Given the description of an element on the screen output the (x, y) to click on. 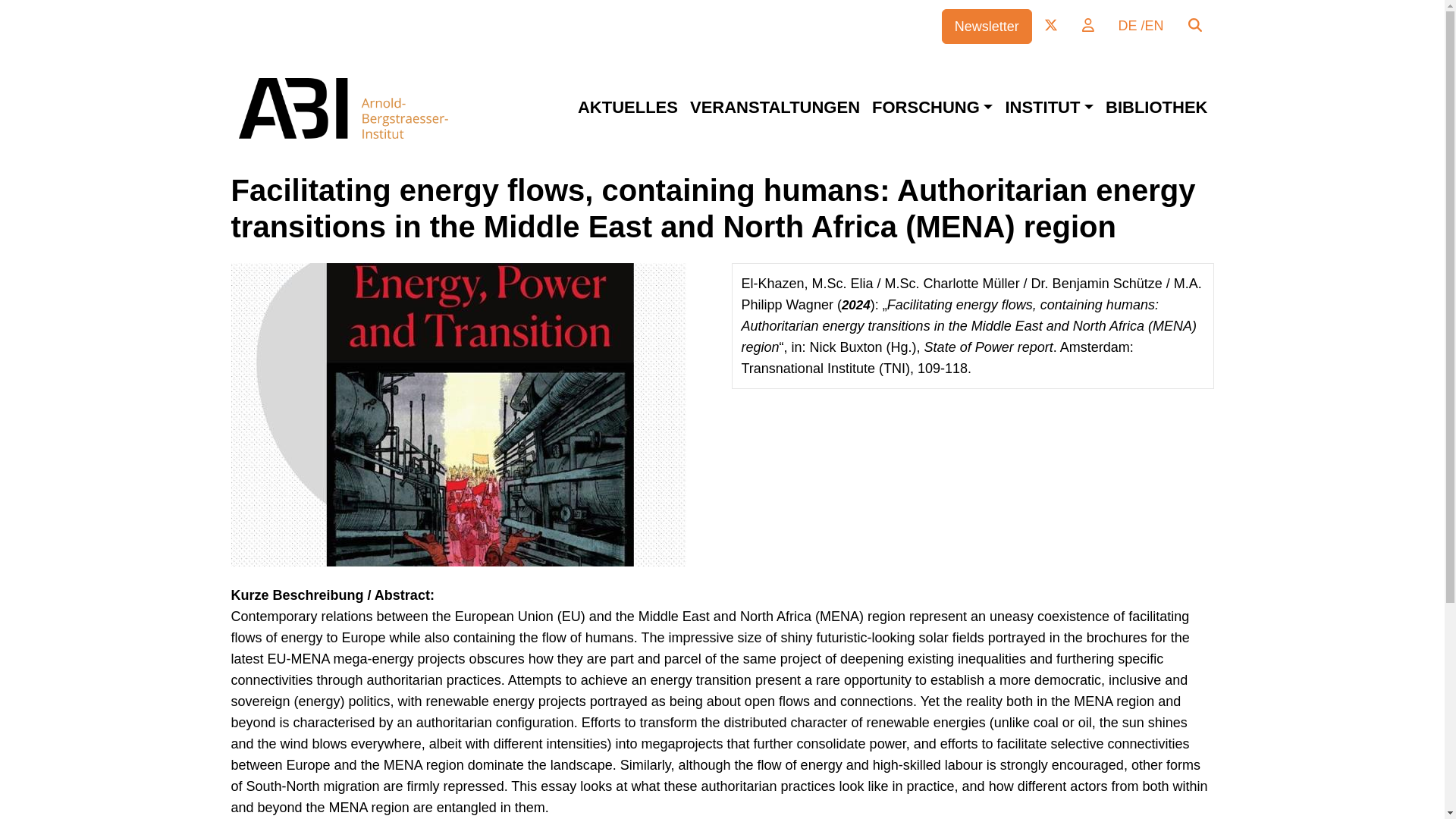
EN (1153, 25)
Startseite (372, 107)
Newsletter (987, 26)
Login (1088, 26)
Twitter (1051, 26)
Weitere Infos und Newsletter abonnieren (987, 26)
Website durchsuchen (1193, 25)
